Given the description of an element on the screen output the (x, y) to click on. 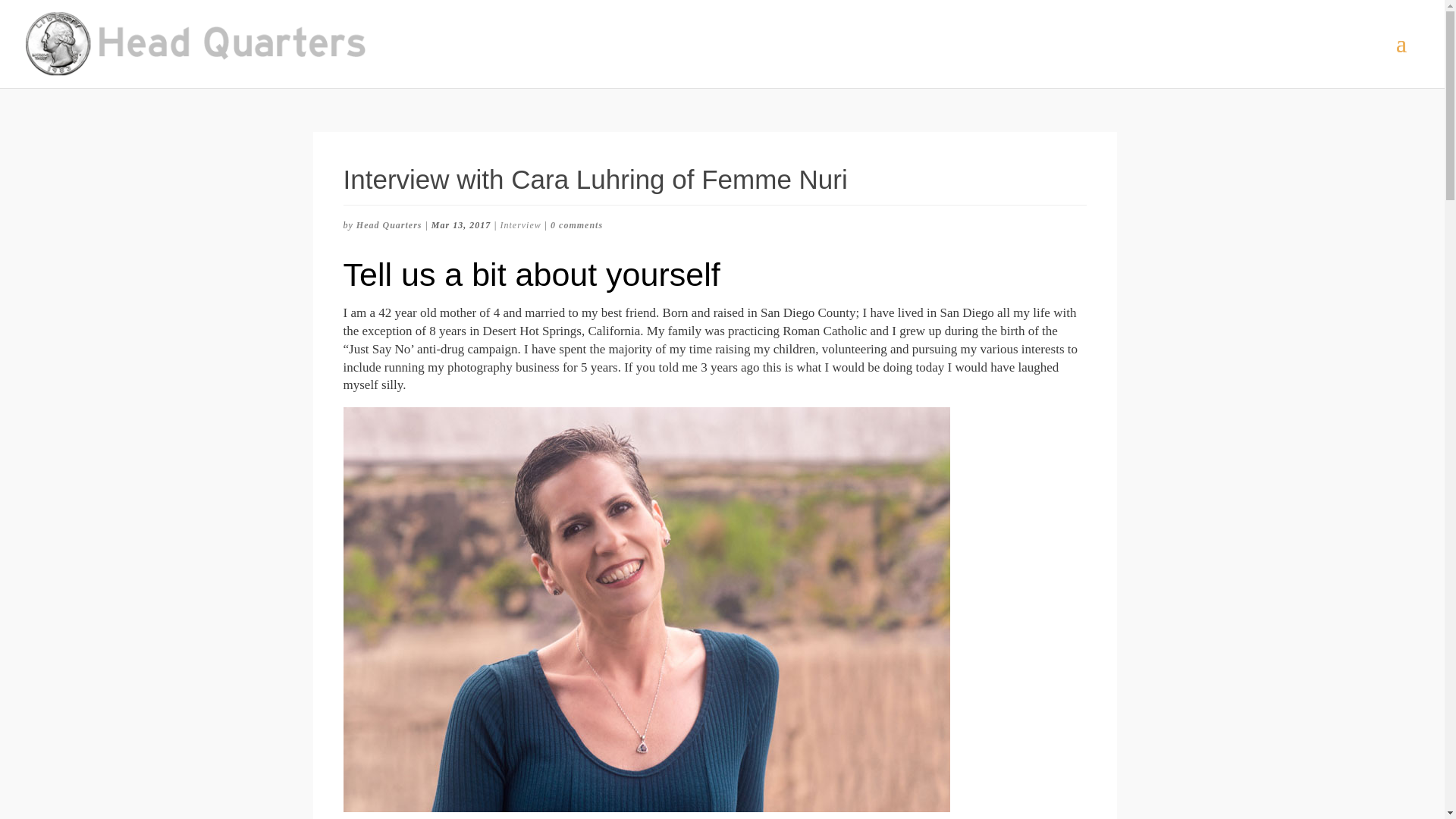
Interview (519, 225)
Head Quarters (389, 225)
0 comments (576, 225)
Posts by Head Quarters (389, 225)
